Given the description of an element on the screen output the (x, y) to click on. 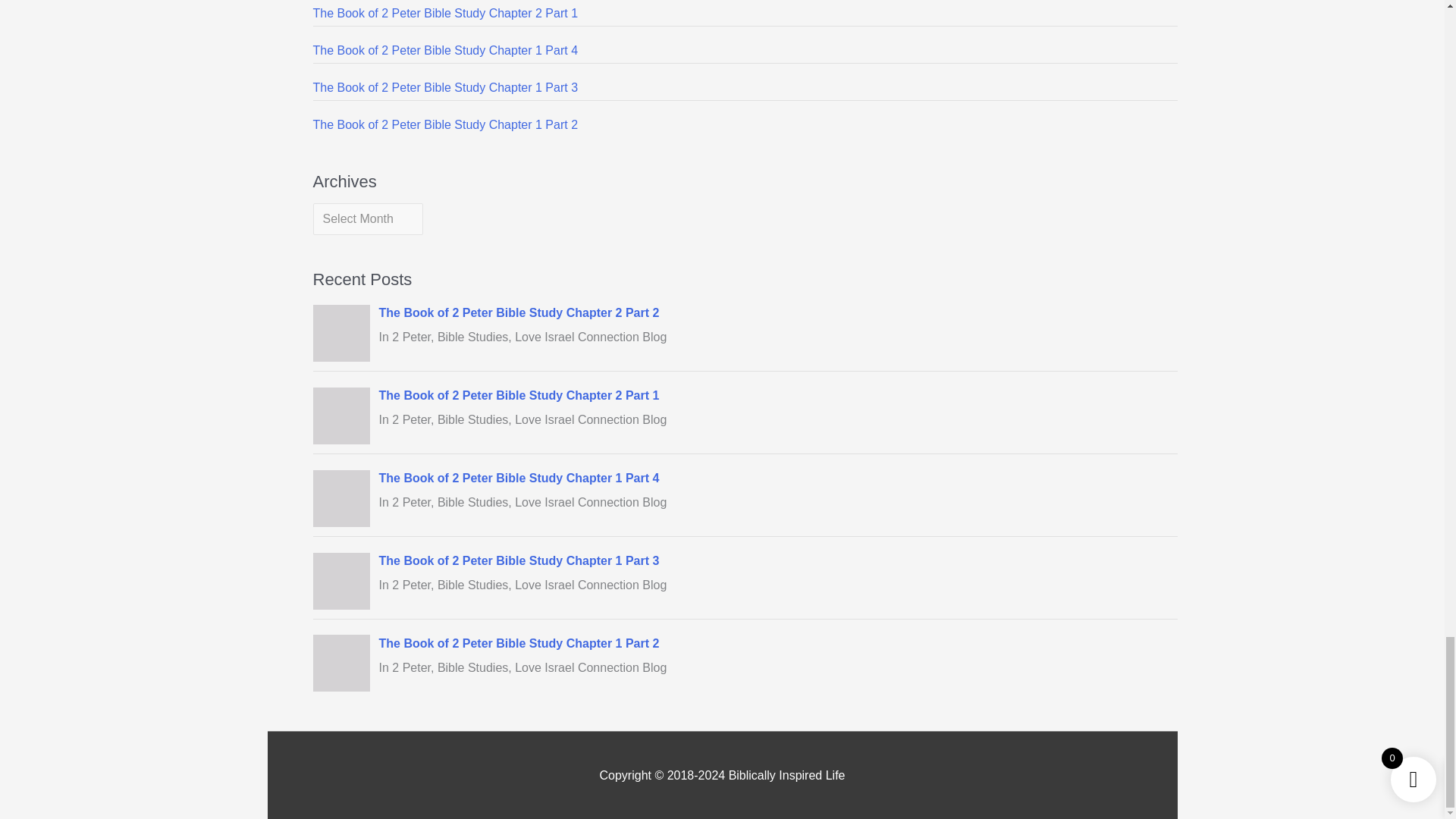
The Book of 2 Peter Bible Study Chapter 1 Part 3 (445, 87)
The Book of 2 Peter Bible Study Chapter 2 Part 1 (445, 12)
The Book of 2 Peter Bible Study Chapter 1 Part 4 (445, 50)
